Given the description of an element on the screen output the (x, y) to click on. 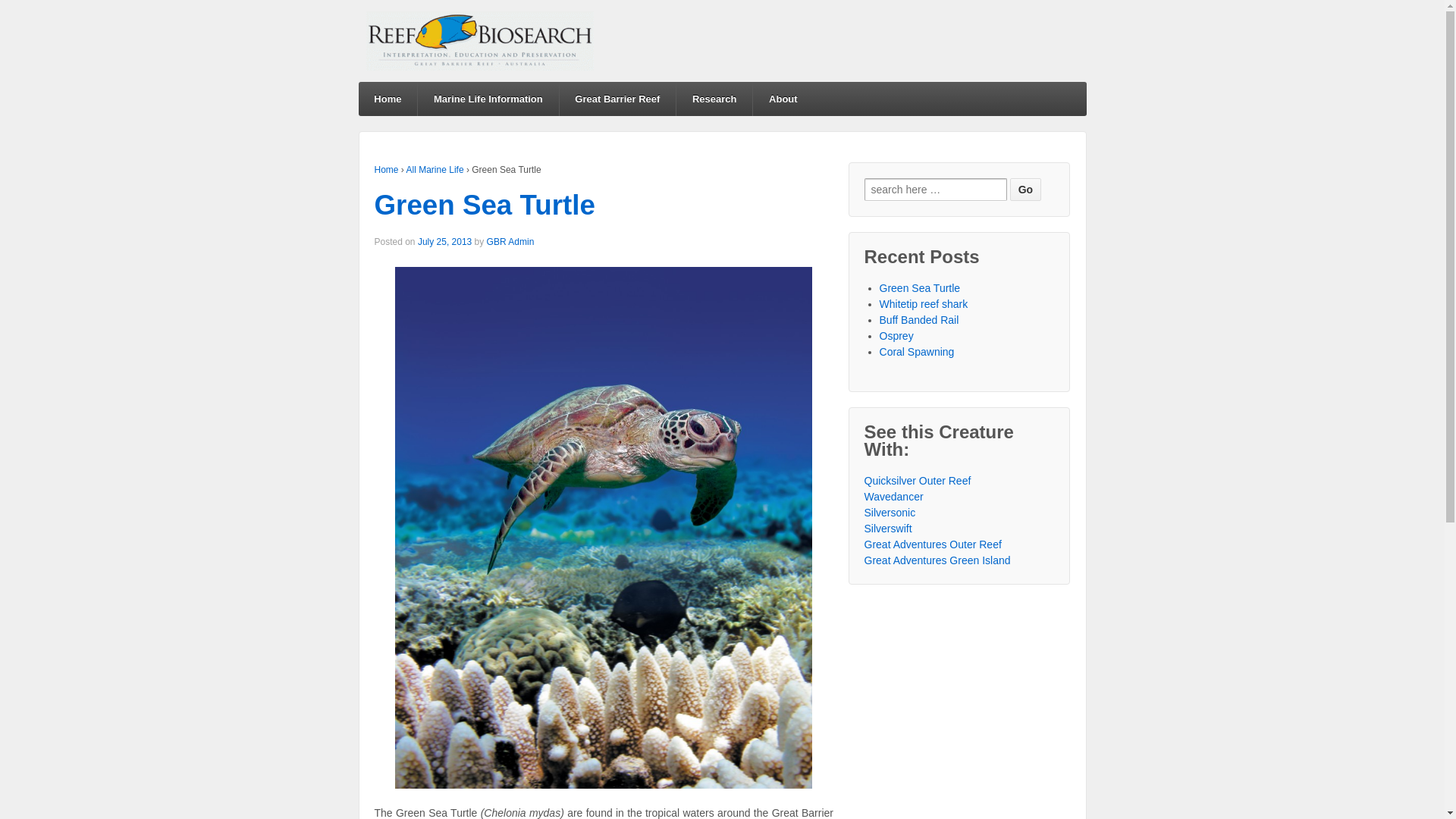
Home Element type: text (386, 169)
Research Element type: text (713, 98)
Great Adventures Outer Reef Element type: text (932, 544)
Green Sea Turtle Element type: text (484, 204)
Go Element type: text (1025, 189)
Quicksilver Outer Reef Element type: text (917, 480)
Great Adventures Green Island Element type: text (937, 560)
Silversonic Element type: text (890, 512)
July 25, 2013 Element type: text (444, 241)
About Element type: text (782, 98)
Whitetip reef shark Element type: text (923, 304)
Osprey Element type: text (896, 335)
Coral Spawning Element type: text (916, 351)
Marine Life Information Element type: text (487, 98)
Great Barrier Reef Element type: text (617, 98)
GBR Admin Element type: text (510, 241)
Silverswift Element type: text (888, 528)
Home Element type: text (387, 98)
Buff Banded Rail Element type: text (919, 319)
Green Sea Turtle Element type: text (919, 288)
All Marine Life Element type: text (435, 169)
Wavedancer Element type: text (893, 496)
